Given the description of an element on the screen output the (x, y) to click on. 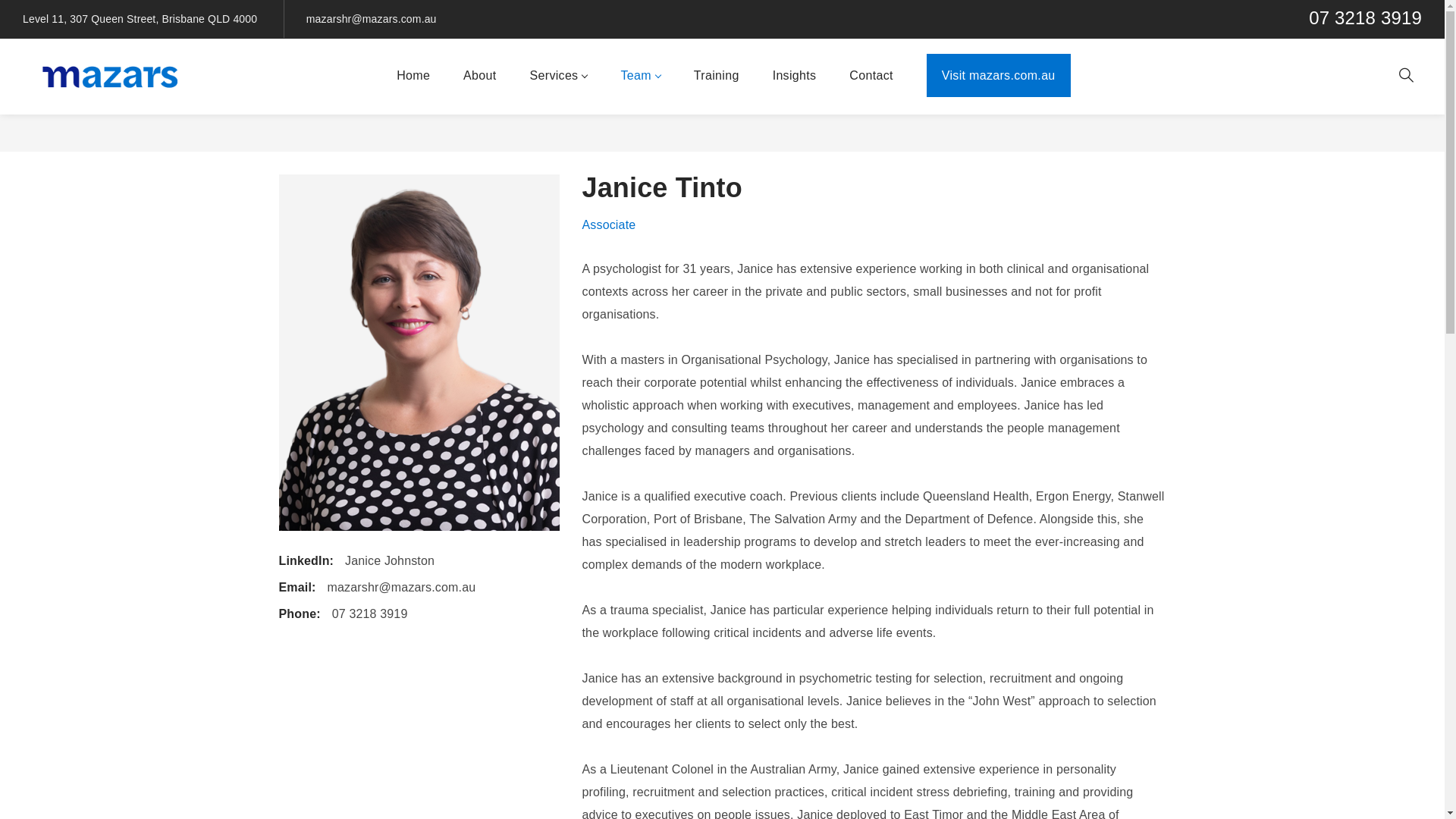
Home Element type: text (412, 76)
About Element type: text (479, 76)
Contact Element type: text (870, 76)
Search Element type: text (1147, 112)
Insights Element type: text (794, 76)
Training Element type: text (716, 76)
mazarshr@mazars.com.au Element type: text (371, 18)
Janice Johnston Element type: text (383, 560)
Services Element type: text (558, 76)
Visit mazars.com.au Element type: text (998, 76)
Team Element type: text (639, 76)
